Given the description of an element on the screen output the (x, y) to click on. 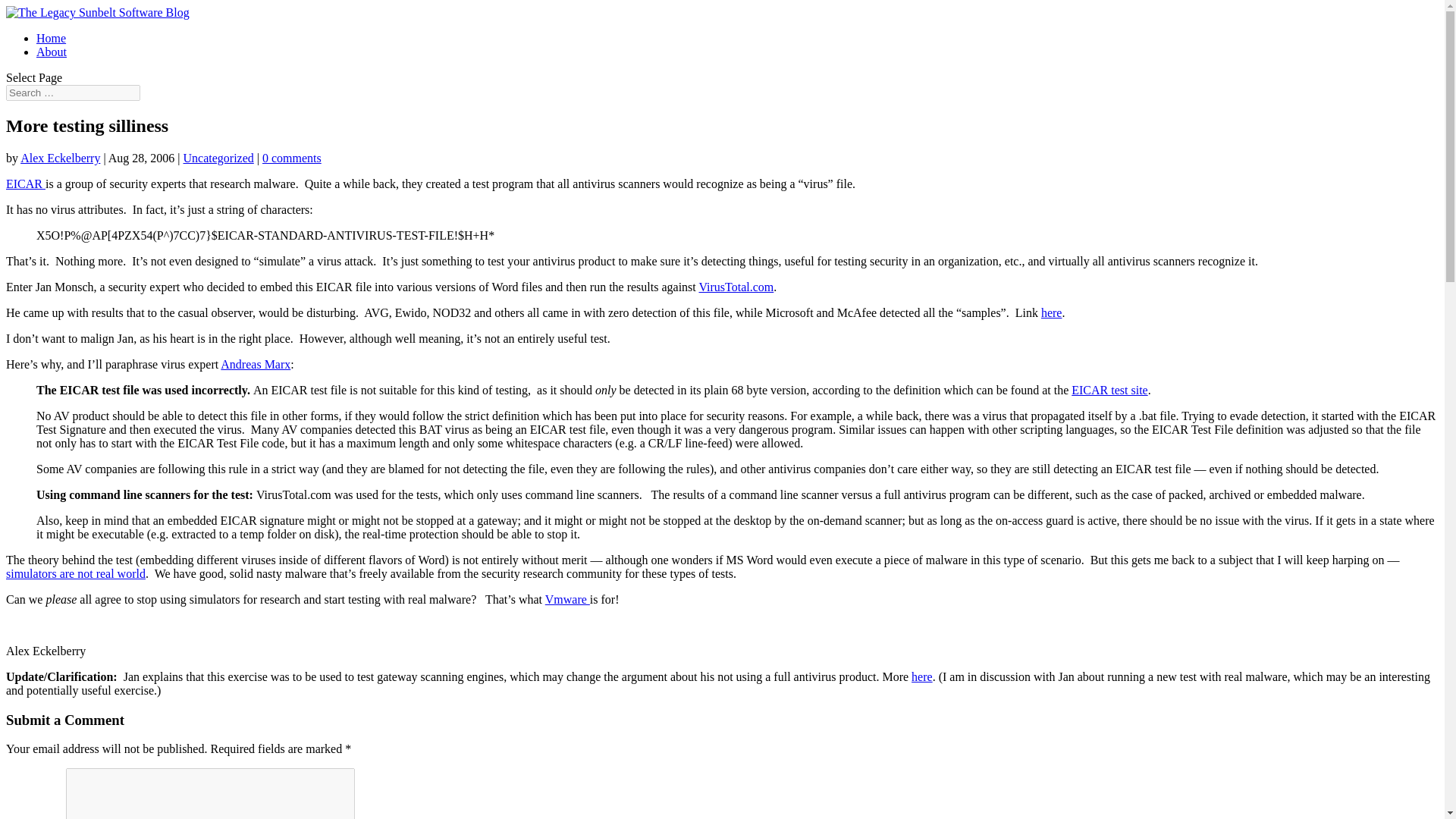
here (1051, 312)
VirusTotal.com (735, 286)
EICAR test site (1109, 390)
Vmware (566, 599)
EICAR (25, 183)
Andreas Marx (255, 364)
here (922, 676)
Home (50, 38)
0 comments (291, 157)
Search for: (72, 92)
